Given the description of an element on the screen output the (x, y) to click on. 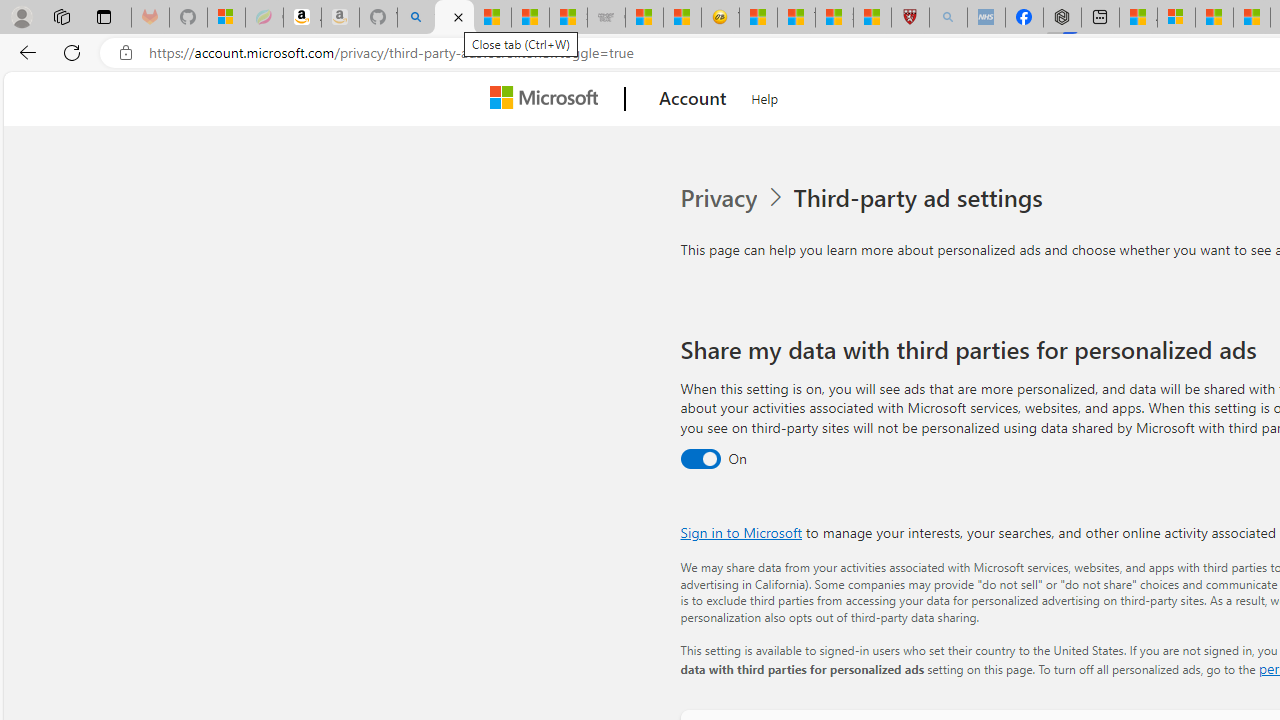
Third-party ad settings (922, 197)
Robert H. Shmerling, MD - Harvard Health (910, 17)
Help (765, 96)
